Given the description of an element on the screen output the (x, y) to click on. 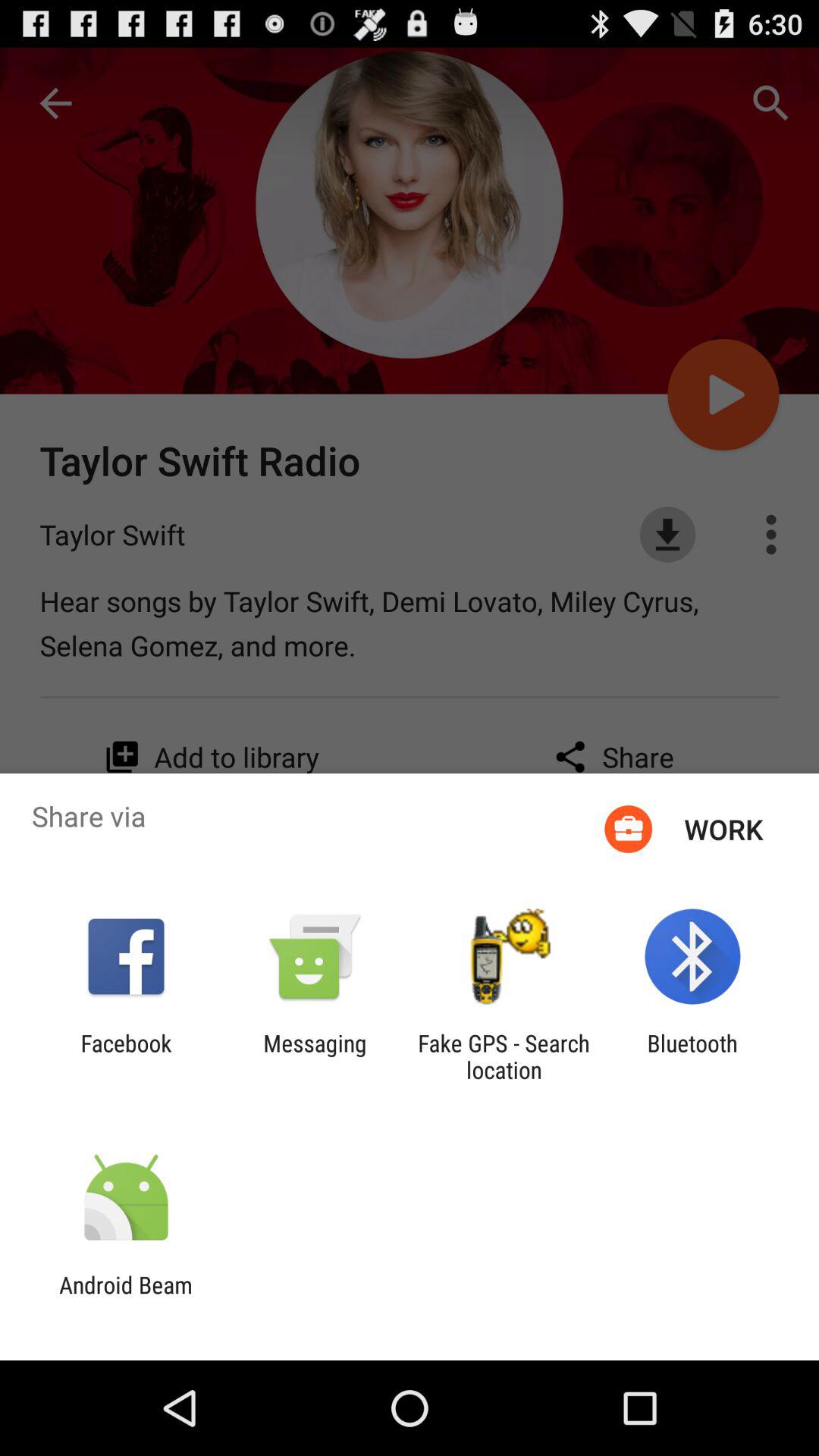
click item to the left of bluetooth app (503, 1056)
